Given the description of an element on the screen output the (x, y) to click on. 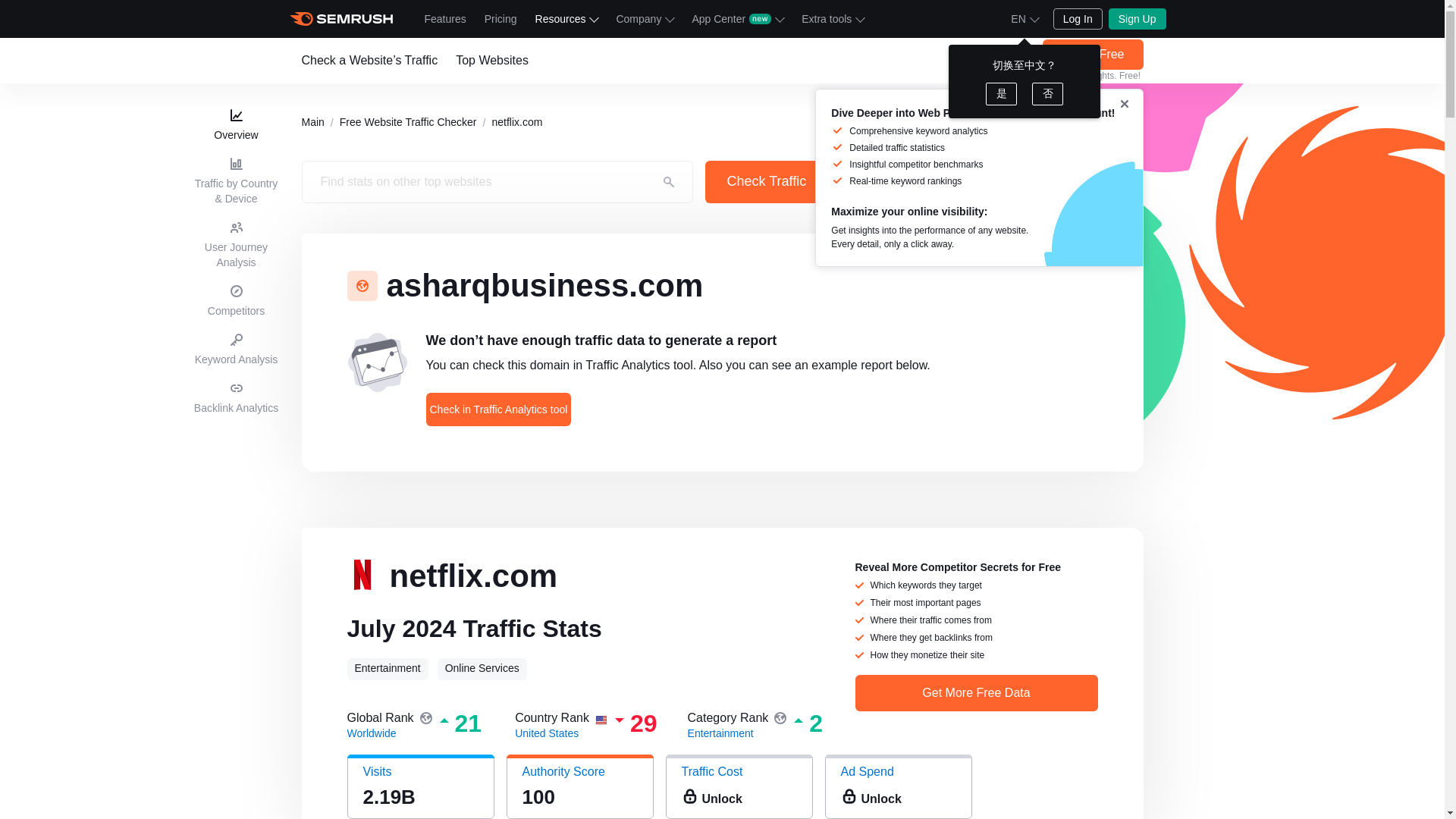
Extra tools (832, 18)
Company (644, 18)
Features (445, 18)
App Center (737, 18)
Pricing (500, 18)
Resources (566, 18)
